Given the description of an element on the screen output the (x, y) to click on. 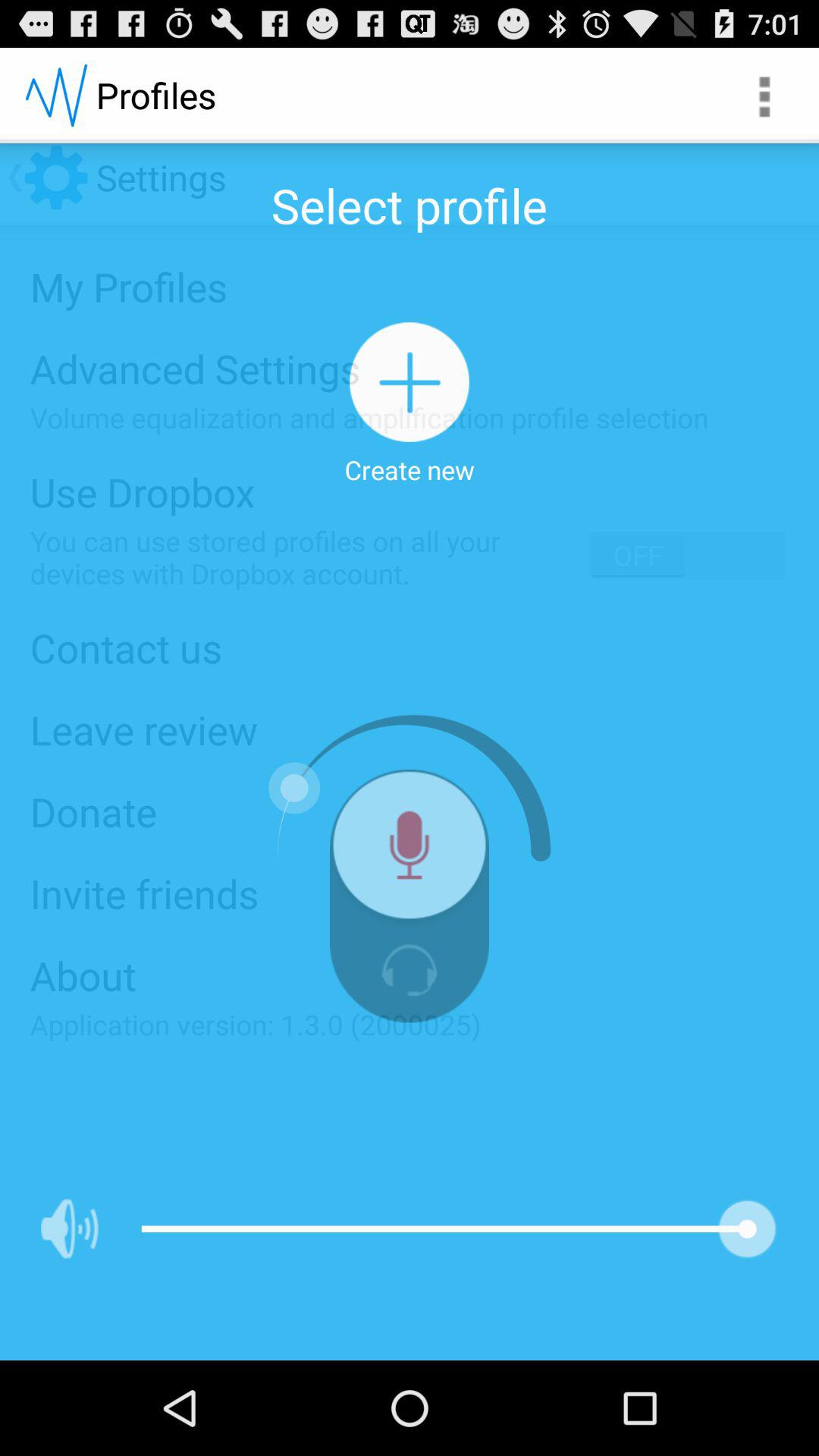
tap the app to the right of profiles icon (763, 95)
